Given the description of an element on the screen output the (x, y) to click on. 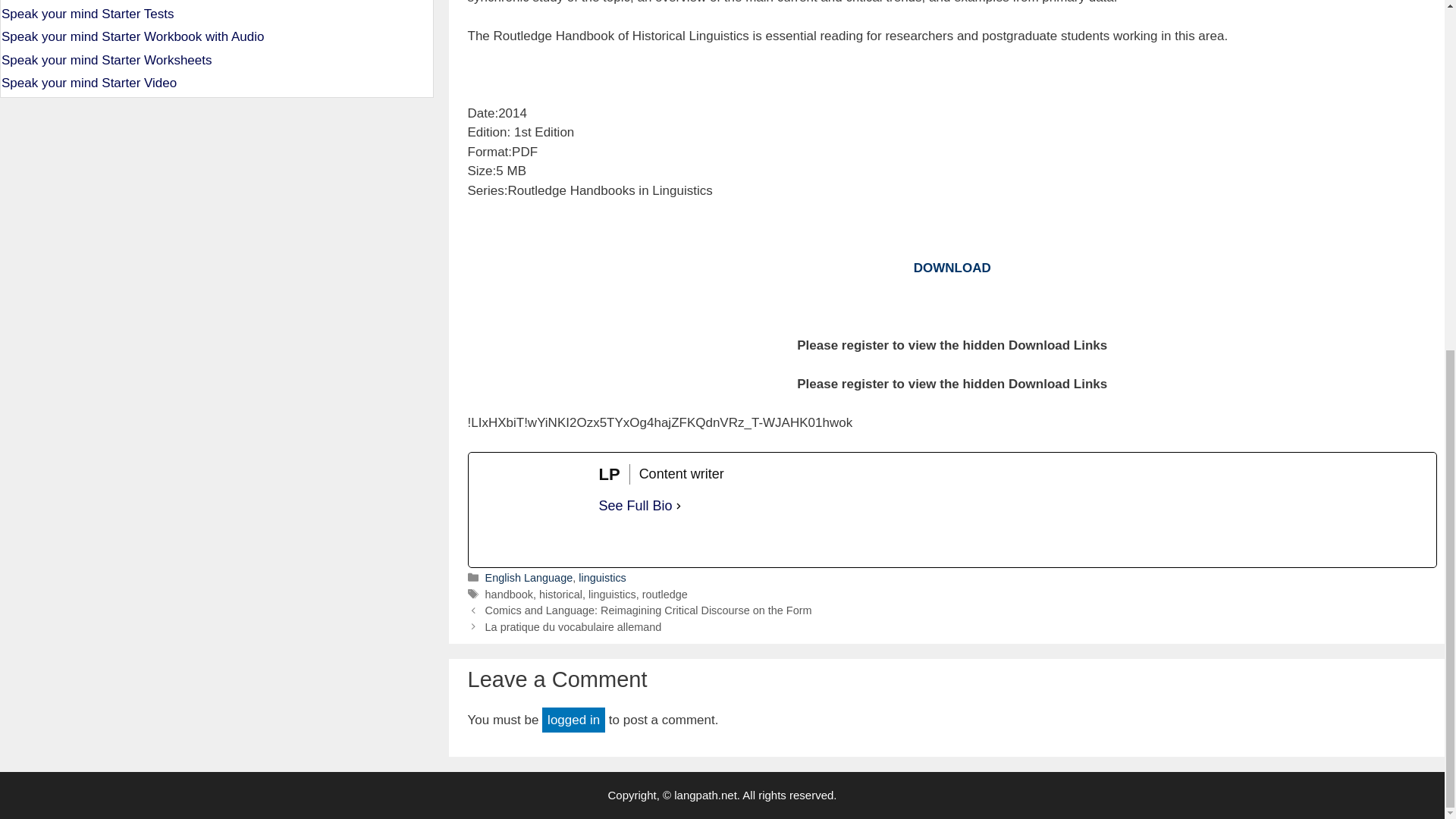
routledge (664, 594)
Speak your mind Starter Tests (87, 13)
linguistics (612, 594)
Speak your mind Starter Video (88, 83)
logged in (573, 719)
historical (560, 594)
linguistics (602, 577)
La pratique du vocabulaire allemand (573, 626)
Speak your mind Starter Workbook with Audio (132, 36)
Speak your mind Starter Worksheets (106, 60)
handbook (508, 594)
English Language (528, 577)
See Full Bio (635, 506)
